Given the description of an element on the screen output the (x, y) to click on. 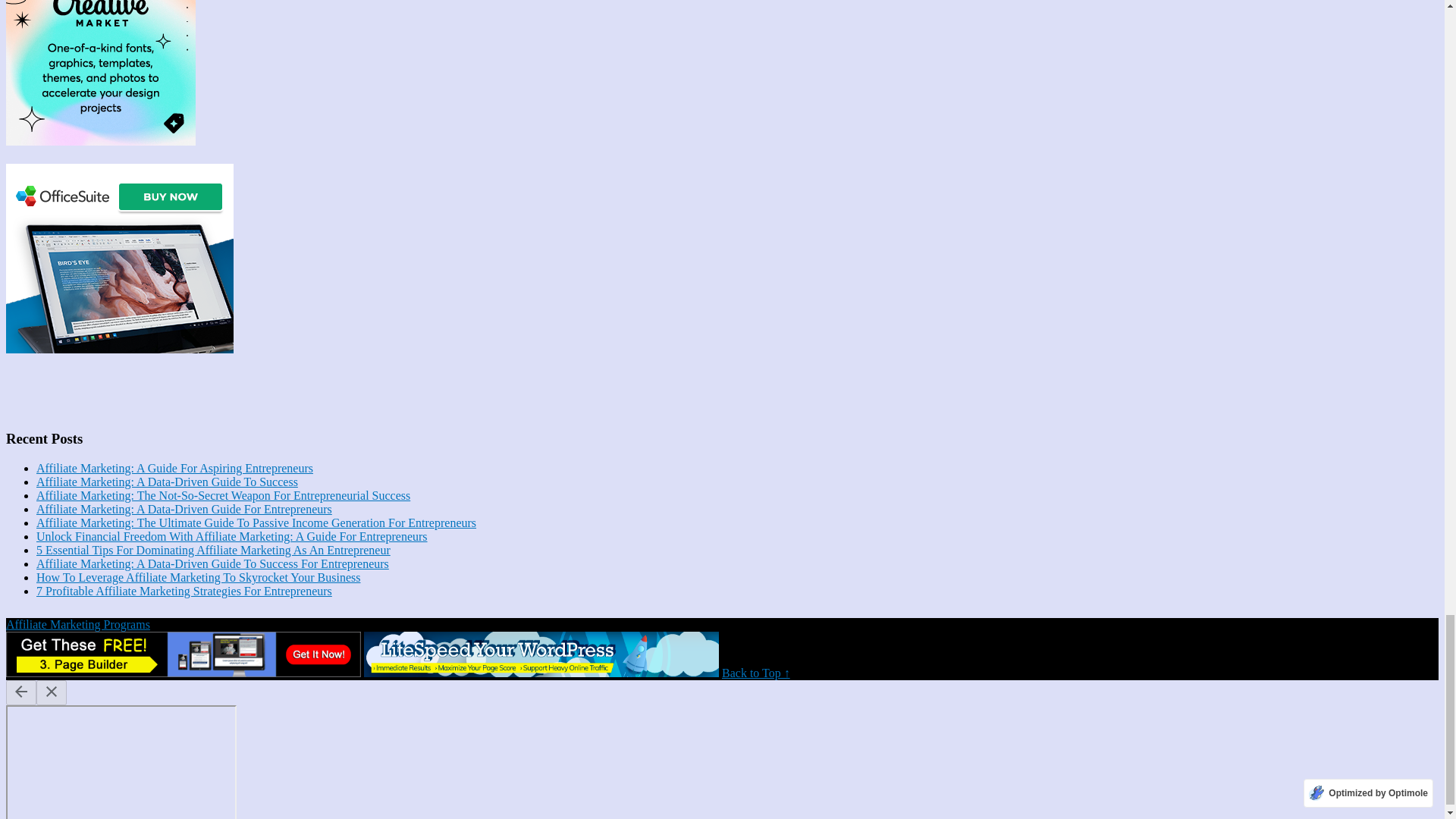
Affiliate Marketing: A Data-Driven Guide To Success (167, 481)
Affiliate Marketing: A Guide For Aspiring Entrepreneurs (174, 468)
Affiliate Marketing: A Data-Driven Guide For Entrepreneurs (183, 508)
